Given the description of an element on the screen output the (x, y) to click on. 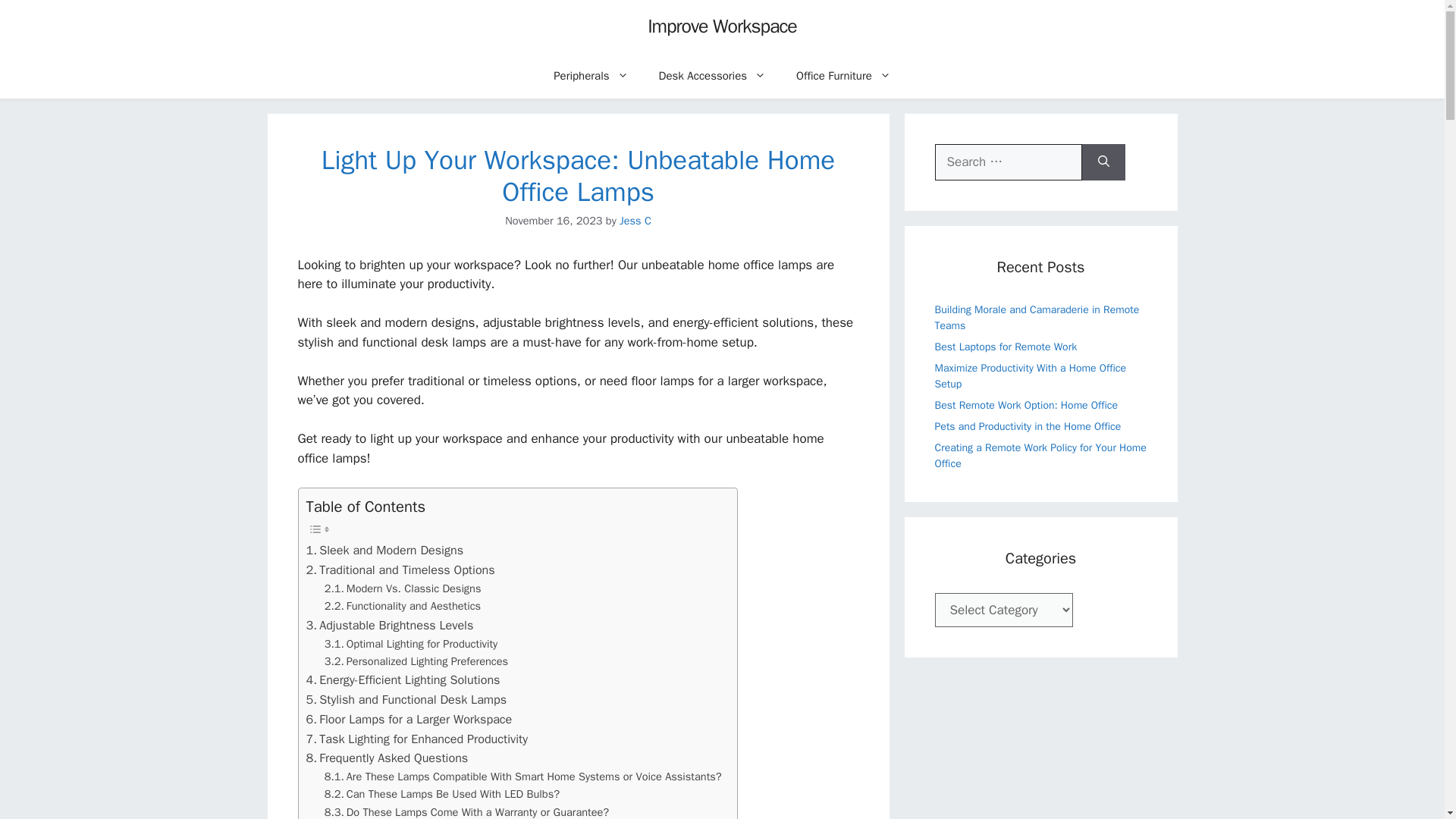
Personalized Lighting Preferences (416, 661)
Task Lighting for Enhanced Productivity (416, 739)
Stylish and Functional Desk Lamps (405, 700)
Adjustable Brightness Levels (389, 625)
Functionality and Aesthetics (402, 606)
Jess C (635, 220)
Functionality and Aesthetics (402, 606)
Can These Lamps Be Used With LED Bulbs? (441, 794)
Traditional and Timeless Options (400, 569)
Can These Lamps Be Used With LED Bulbs? (441, 794)
